Given the description of an element on the screen output the (x, y) to click on. 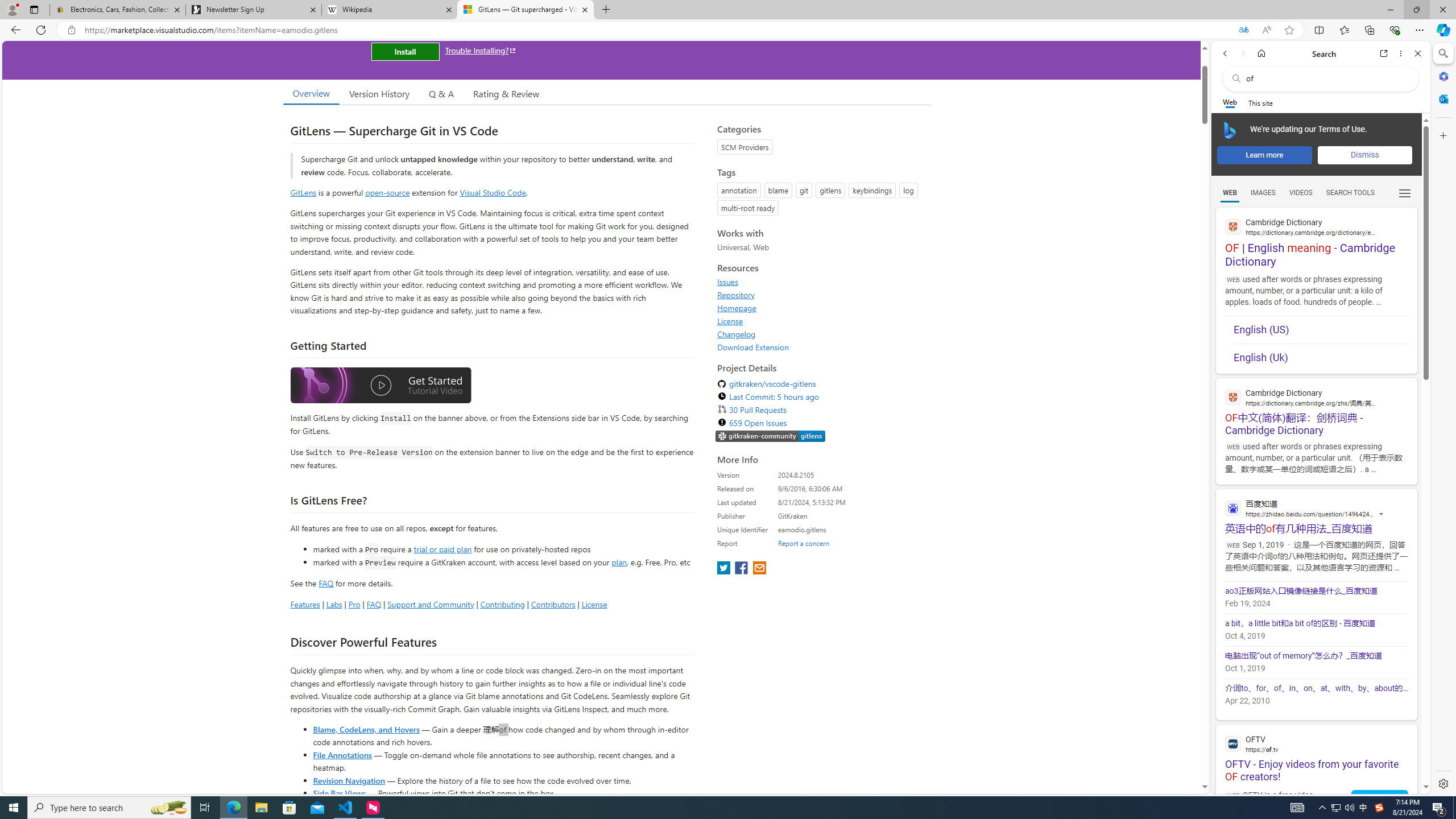
English (US) (1320, 329)
Visual Studio Code (492, 192)
Revision Navigation (348, 780)
share extension on email (759, 568)
